Given the description of an element on the screen output the (x, y) to click on. 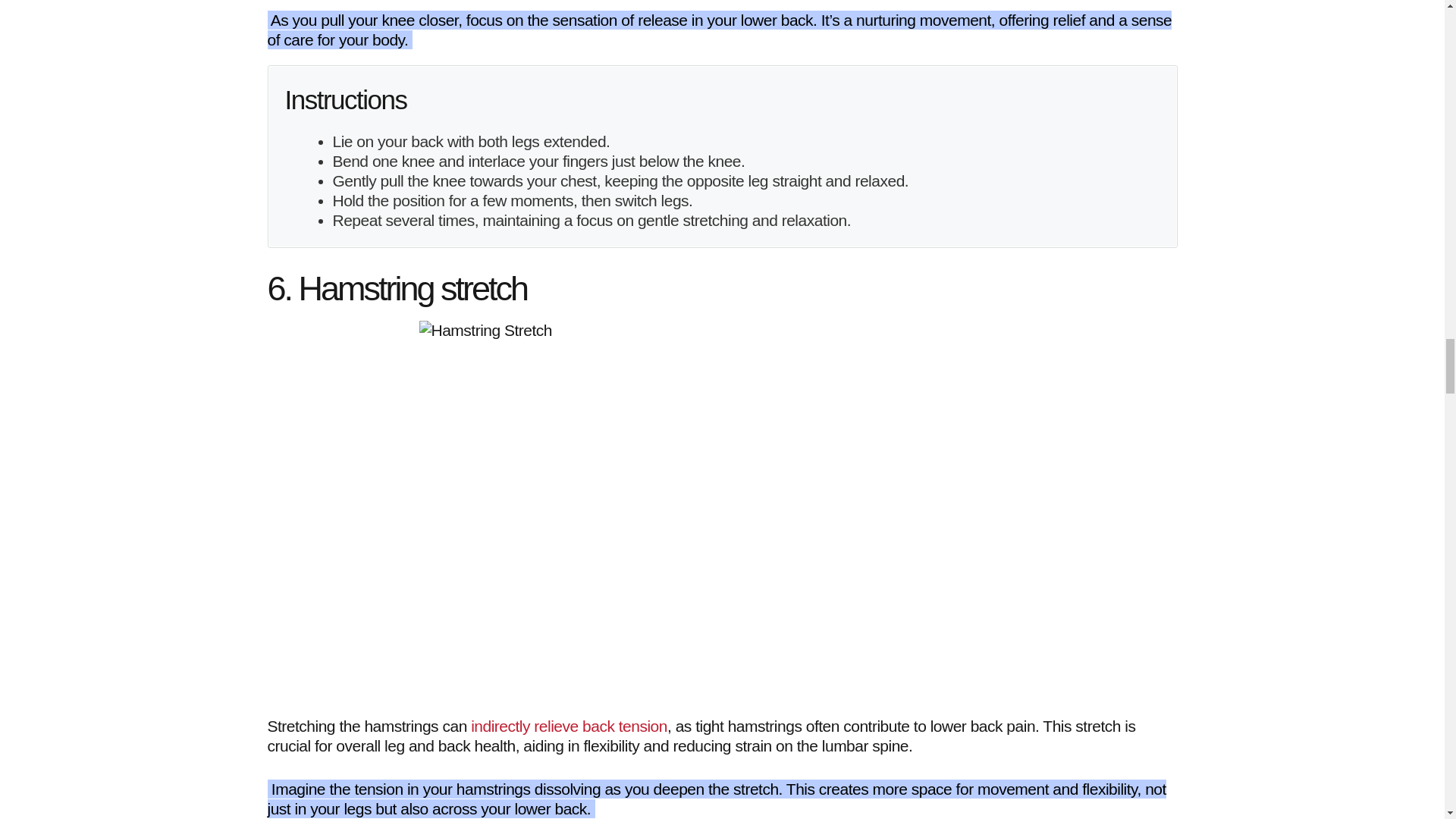
indirectly relieve back tension (568, 725)
